Given the description of an element on the screen output the (x, y) to click on. 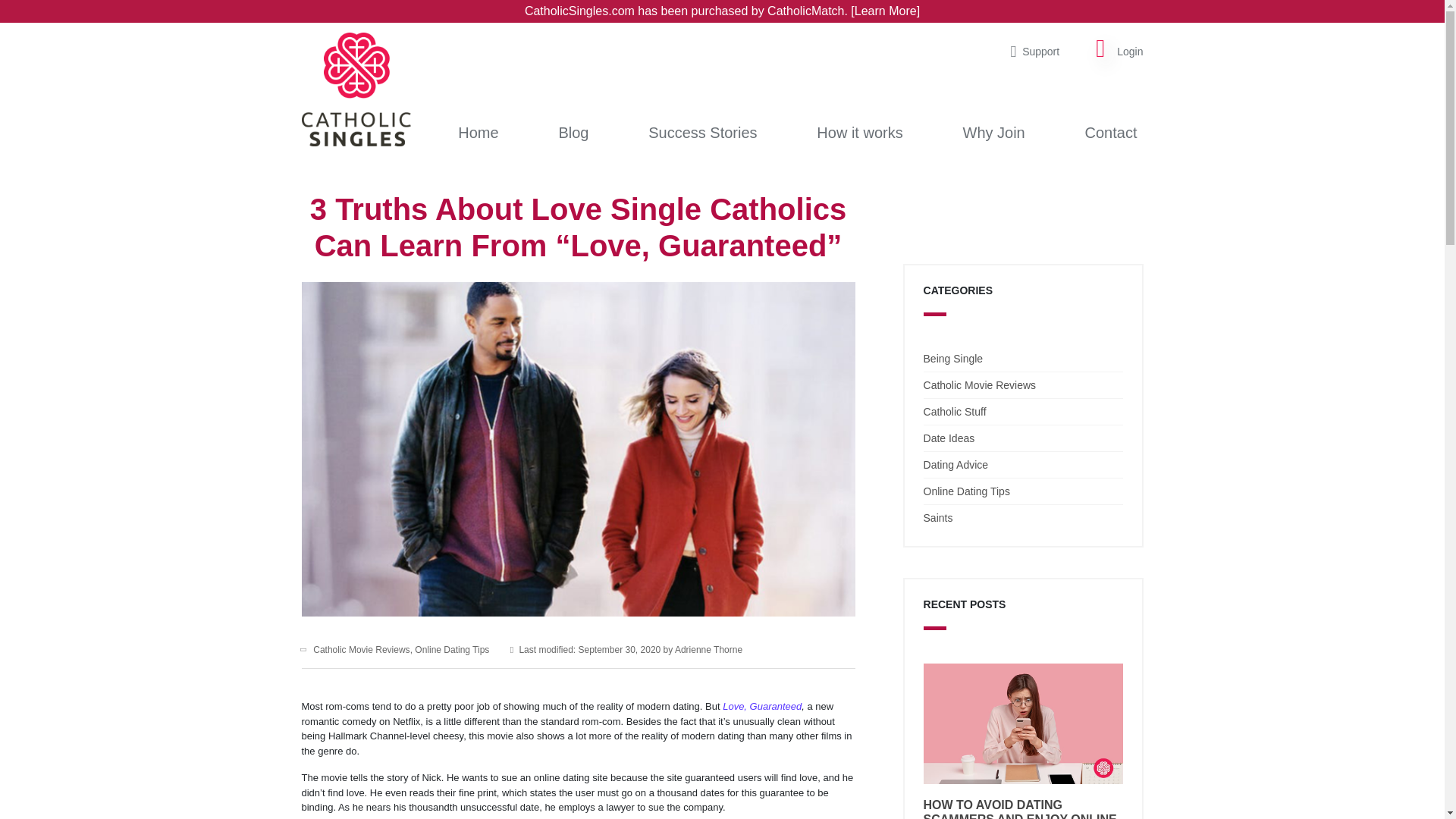
Last modified: September 30, 2020 (590, 649)
Online Dating Tips (966, 491)
Contact (1110, 132)
Contact (1110, 132)
Home (477, 132)
How it works (859, 132)
Login (1129, 51)
Success Stories (702, 132)
Date Ideas (949, 438)
Why Join (993, 132)
Catholic Stuff (955, 411)
Blog (572, 132)
Dating Advice (955, 464)
Success Stories (702, 132)
